Given the description of an element on the screen output the (x, y) to click on. 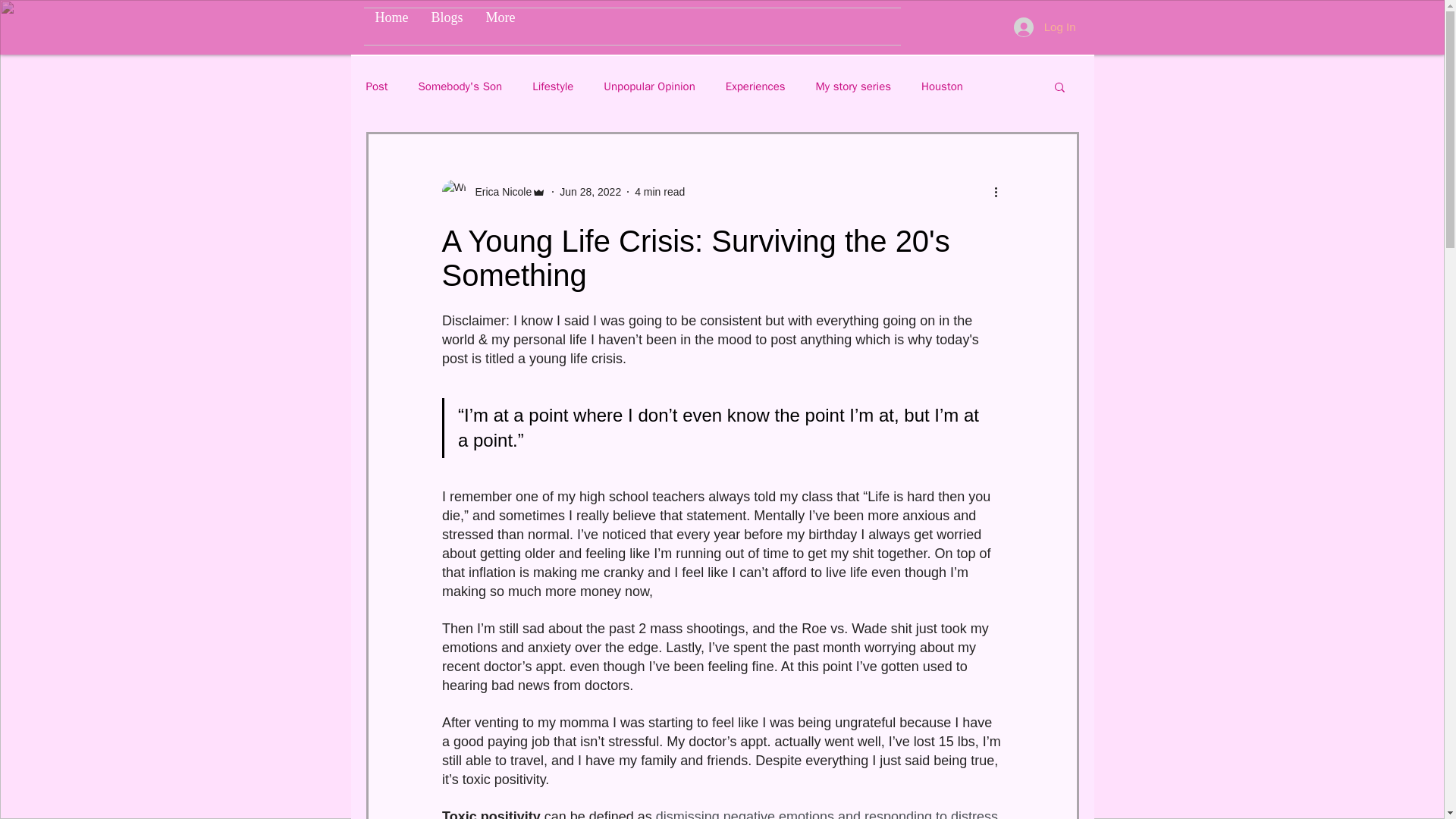
Blogs (447, 26)
4 min read (659, 191)
Log In (1044, 26)
Home (392, 26)
Experiences (755, 85)
Jun 28, 2022 (590, 191)
My story series (853, 85)
Post (376, 85)
Lifestyle (552, 85)
Somebody's Son (460, 85)
